Given the description of an element on the screen output the (x, y) to click on. 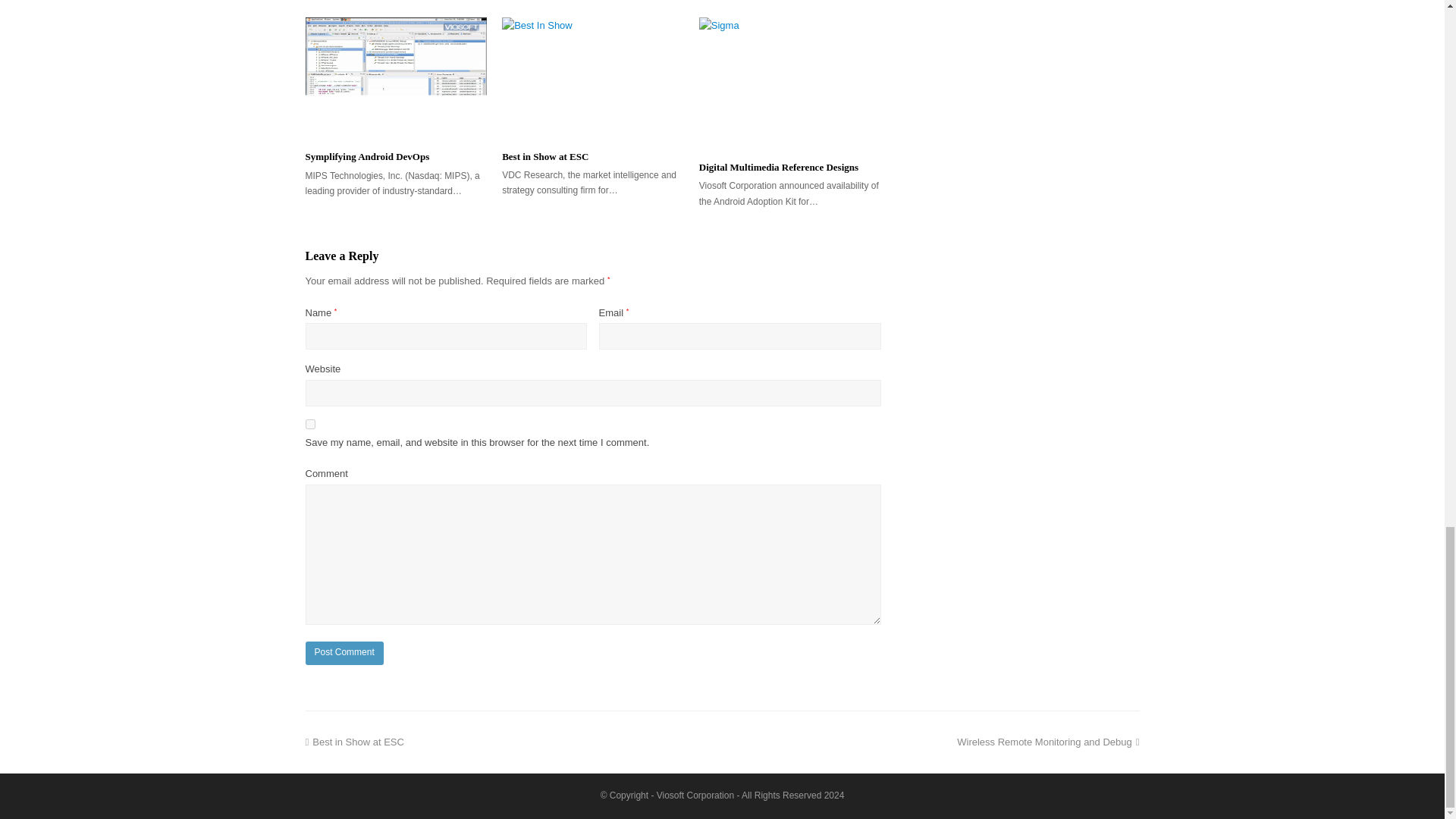
Digital Multimedia Reference Designs (789, 83)
Symplifying Android DevOps (395, 77)
Symplifying Android DevOps (366, 156)
Post Comment (343, 653)
Digital Multimedia Reference Designs (778, 166)
Digital Multimedia Reference Designs (778, 166)
yes (1047, 741)
Best in Show at ESC (309, 424)
Symplifying Android DevOps (545, 155)
